Given the description of an element on the screen output the (x, y) to click on. 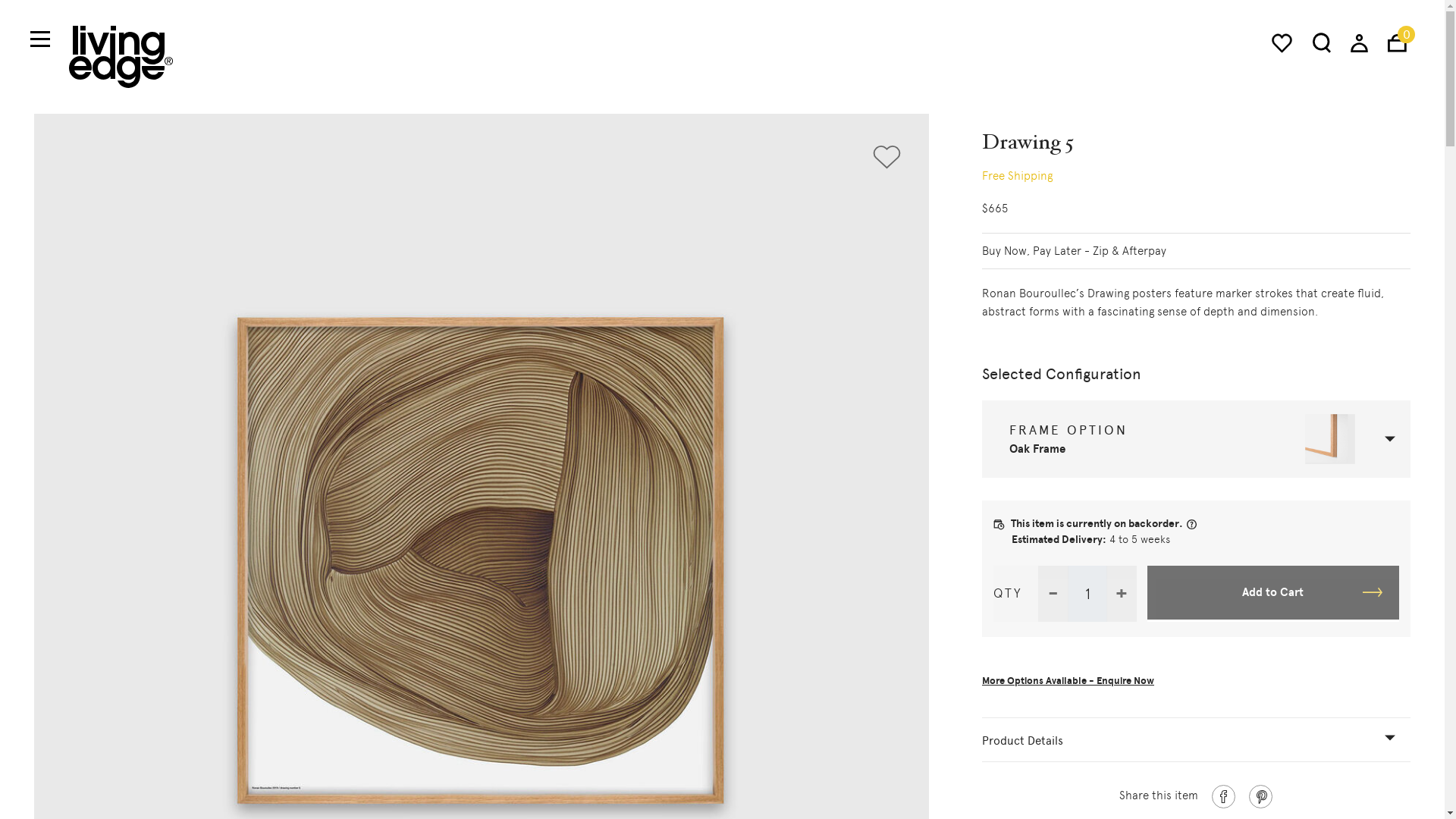
0 (1396, 42)
Menu (39, 38)
Living Edge Home (120, 56)
View Cart (1396, 42)
Free Shipping on prints by The Wrong Shop. (1195, 175)
